Given the description of an element on the screen output the (x, y) to click on. 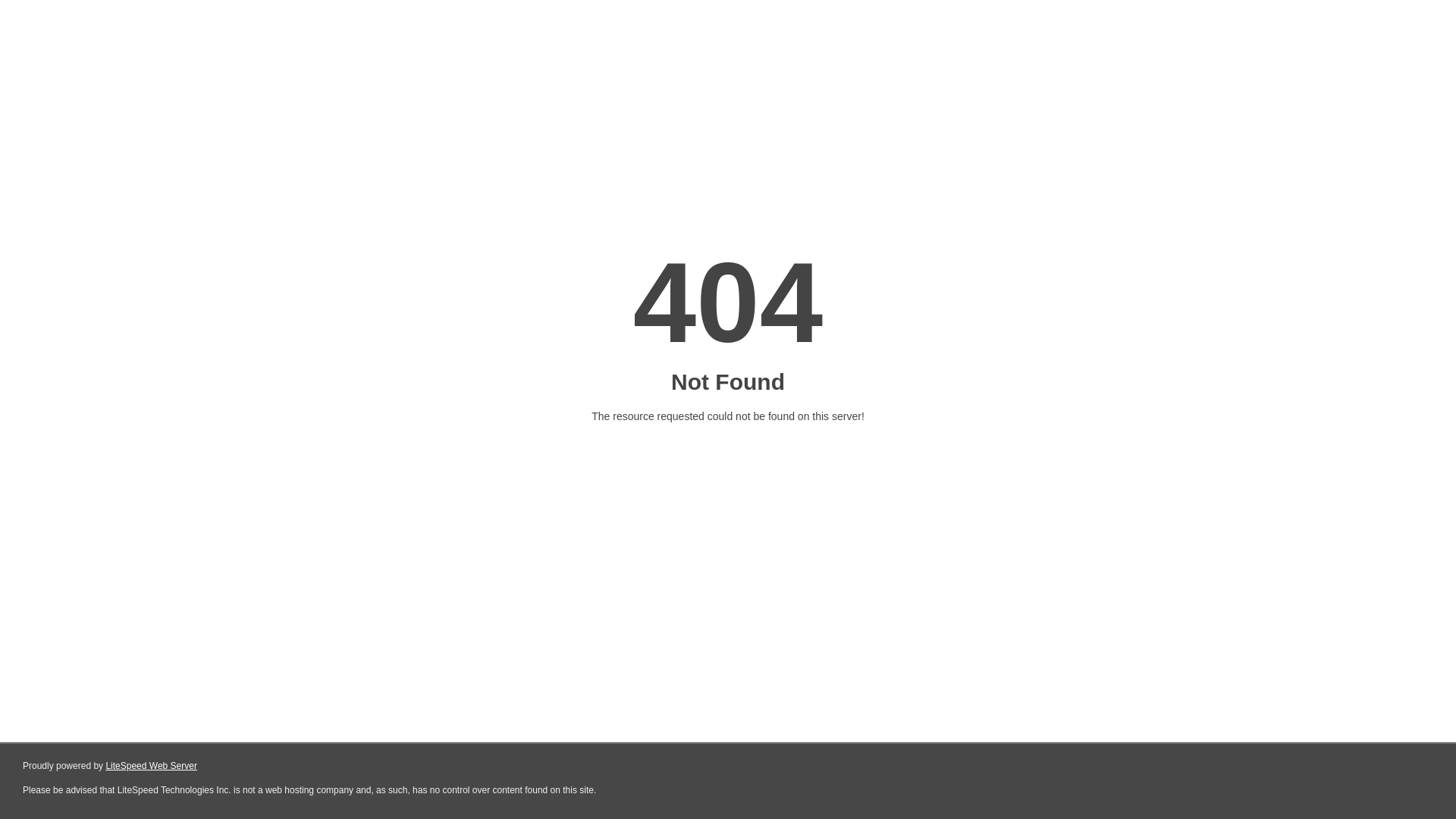
LiteSpeed Web Server Element type: text (151, 765)
